Given the description of an element on the screen output the (x, y) to click on. 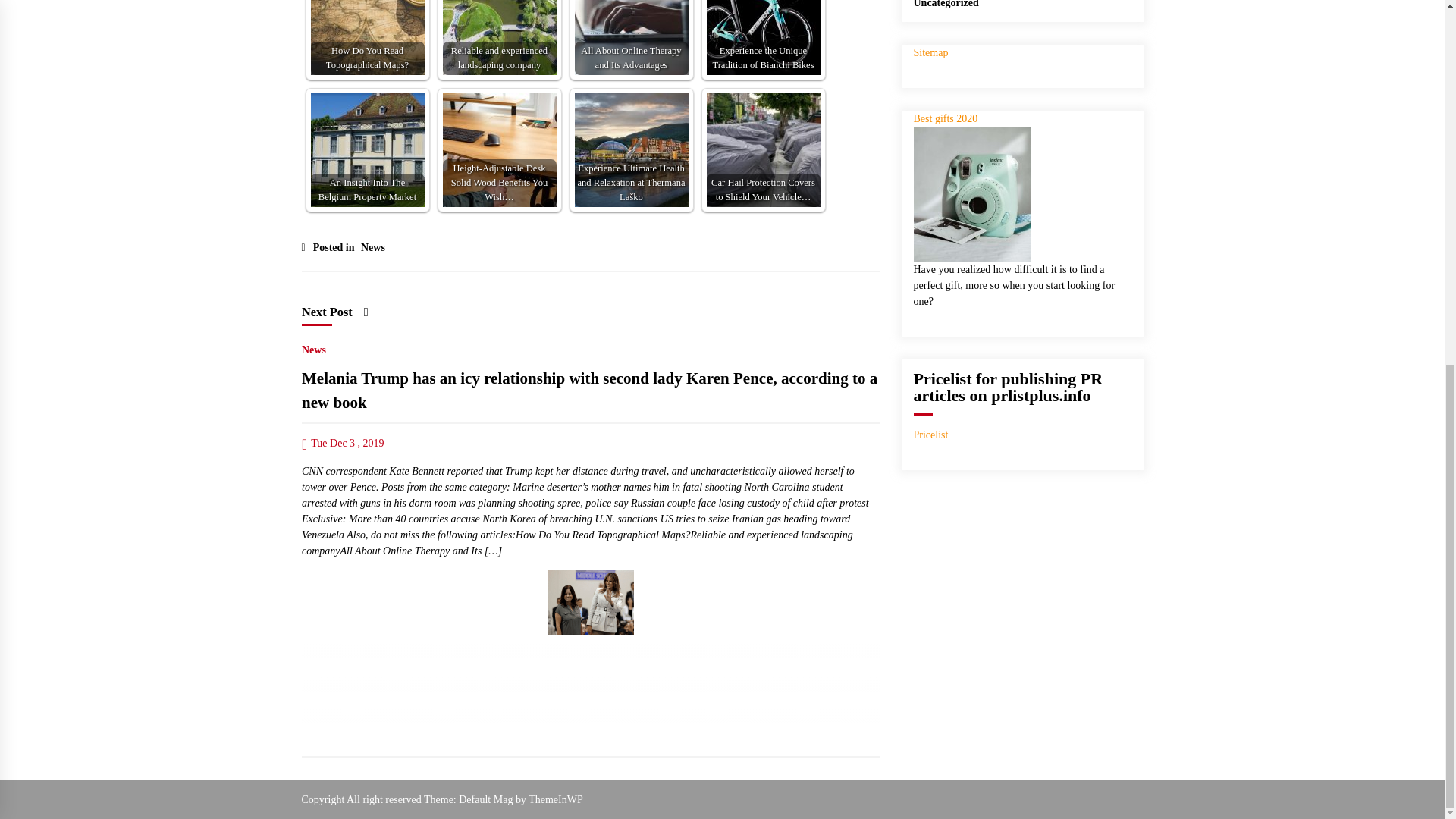
News (370, 244)
Next Post (334, 311)
How Do You Read Topographical Maps? (368, 37)
News (313, 346)
Reliable and experienced landscaping company (499, 37)
Experience the Unique Tradition of Bianchi Bikes (763, 37)
All About Online Therapy and Its Advantages (631, 37)
An Insight Into The Belgium Property Market (368, 150)
Experience the Unique Tradition of Bianchi Bikes (763, 37)
Reliable and experienced landscaping company (499, 37)
All About Online Therapy and Its Advantages (631, 37)
How Do You Read Topographical Maps? (368, 37)
An Insight Into The Belgium Property Market (368, 150)
